Given the description of an element on the screen output the (x, y) to click on. 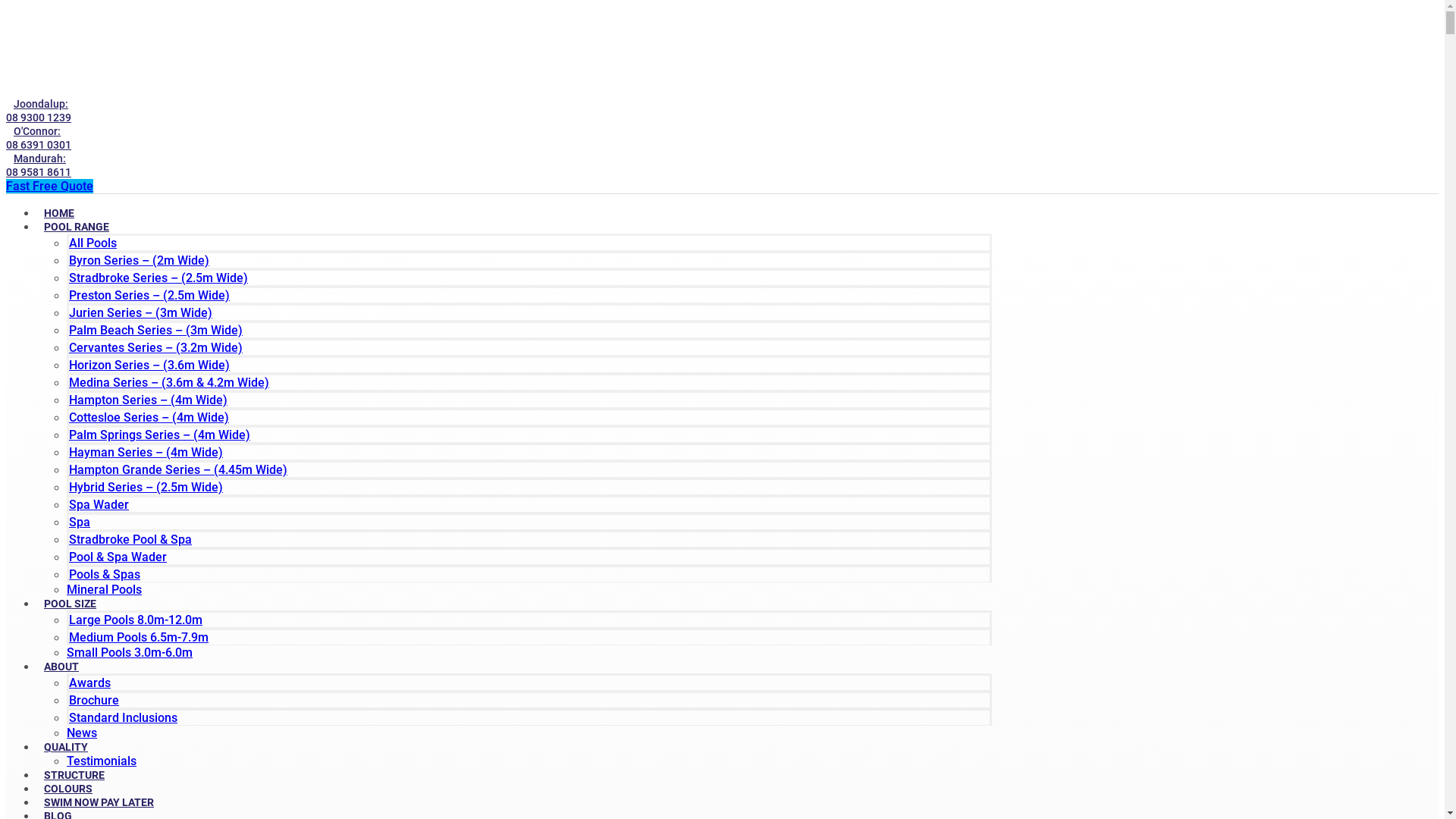
Joondalup:
08 9300 1239 Element type: text (42, 110)
Large Pools 8.0m-12.0m Element type: text (135, 619)
Standard Inclusions Element type: text (123, 717)
Pools & Spas Element type: text (104, 574)
O'Connor:
08 6391 0301 Element type: text (42, 137)
Stradbroke Pool & Spa Element type: text (130, 539)
Mandurah:
08 9581 8611 Element type: text (42, 164)
Small Pools 3.0m-6.0m Element type: text (129, 652)
HOME Element type: text (58, 213)
ABOUT Element type: text (61, 666)
All Pools Element type: text (92, 243)
Spa Element type: text (79, 522)
Spa Wader Element type: text (98, 504)
COLOURS Element type: text (68, 788)
Medium Pools 6.5m-7.9m Element type: text (138, 637)
STRUCTURE Element type: text (74, 774)
POOL RANGE Element type: text (76, 226)
Mineral Pools Element type: text (103, 589)
Fast Free Quote Element type: text (49, 185)
Brochure Element type: text (94, 700)
Awards Element type: text (89, 682)
QUALITY Element type: text (65, 746)
News Element type: text (81, 732)
POOL SIZE Element type: text (69, 603)
SWIM NOW PAY LATER Element type: text (98, 802)
Testimonials Element type: text (101, 760)
Pool & Spa Wader Element type: text (117, 556)
